Given the description of an element on the screen output the (x, y) to click on. 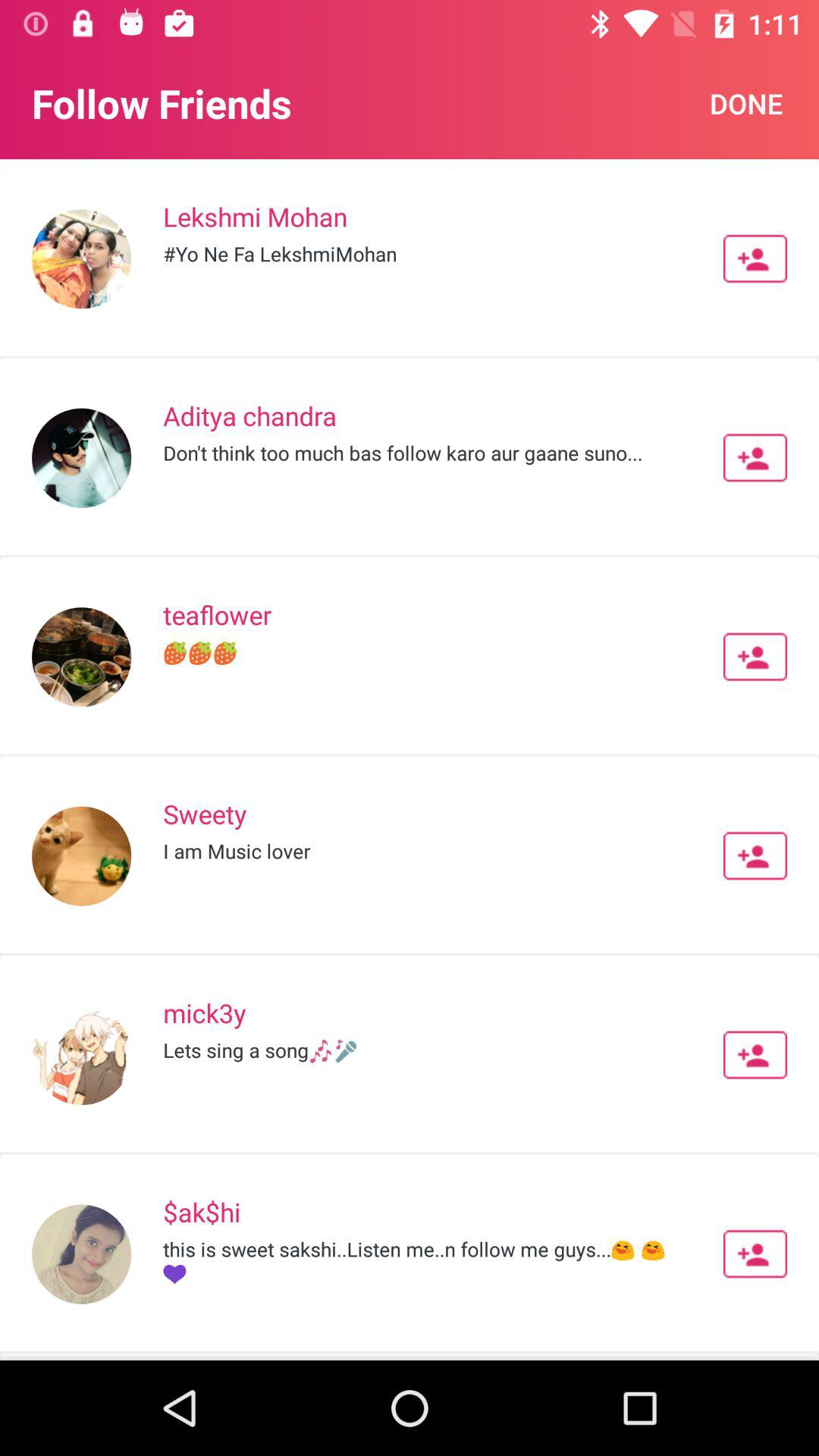
add person button (755, 1054)
